Given the description of an element on the screen output the (x, y) to click on. 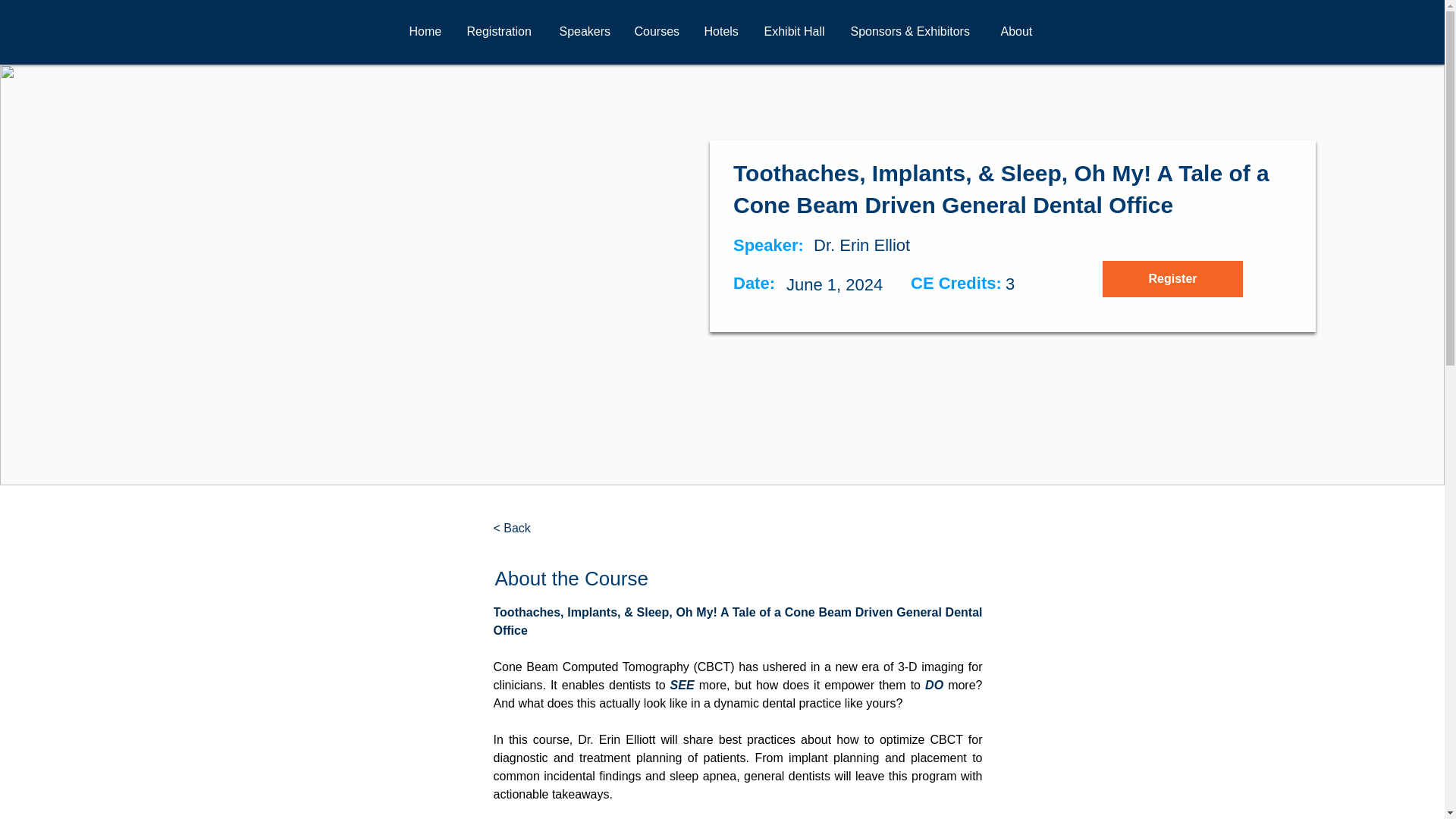
Registration (500, 31)
Courses (658, 31)
Speakers (585, 31)
Register (1172, 279)
Hotels (722, 31)
About (1017, 31)
Home (425, 31)
Exhibit Hall (795, 31)
